Given the description of an element on the screen output the (x, y) to click on. 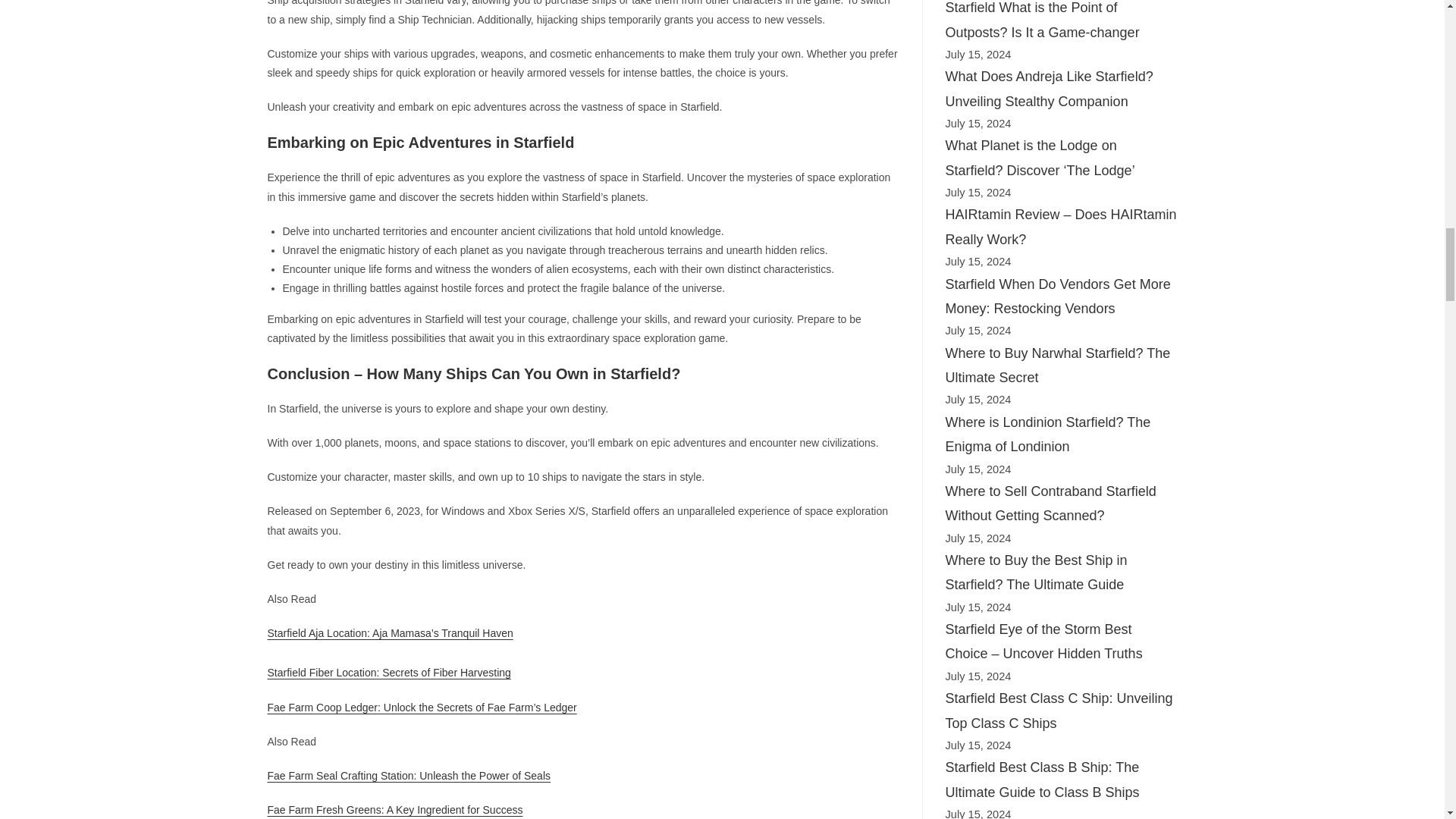
Fae Farm Seal Crafting Station: Unleash the Power of Seals (408, 775)
Fae Farm Fresh Greens: A Key Ingredient for Success (394, 809)
Starfield Fiber Location: Secrets of Fiber Harvesting (388, 672)
